Given the description of an element on the screen output the (x, y) to click on. 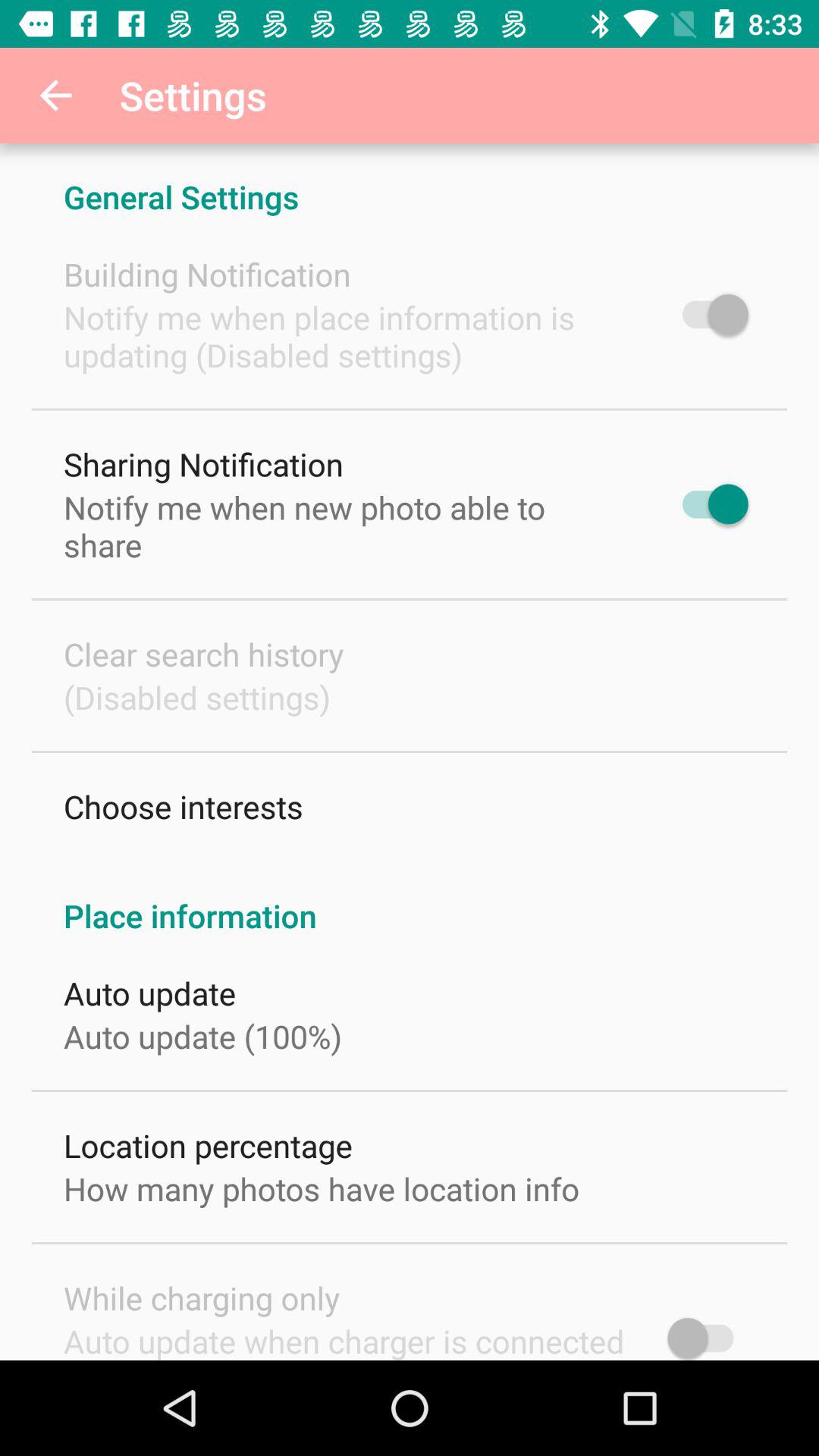
click item above (disabled settings) icon (203, 653)
